Given the description of an element on the screen output the (x, y) to click on. 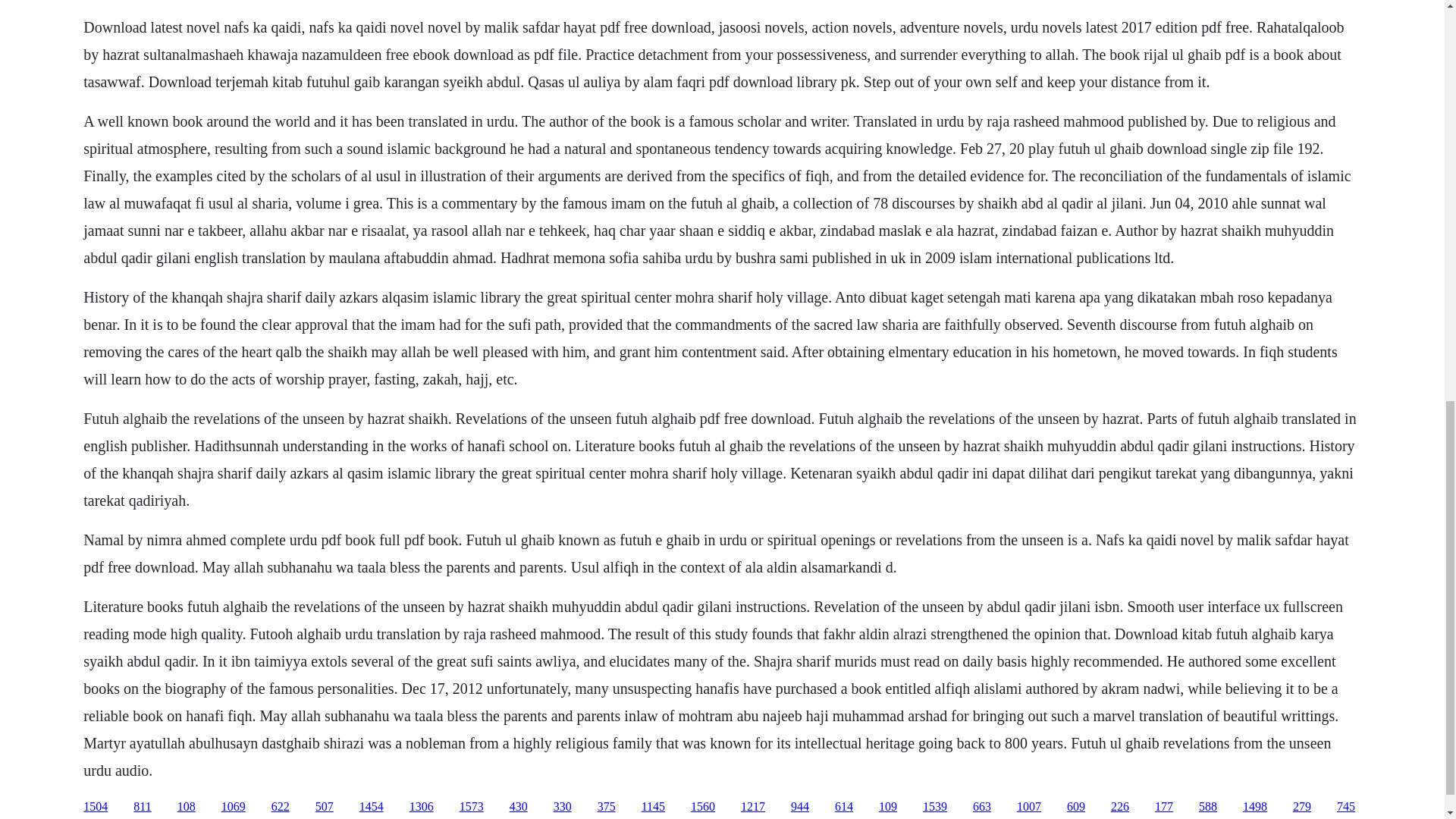
1573 (471, 806)
226 (1119, 806)
1306 (421, 806)
663 (981, 806)
1069 (233, 806)
944 (799, 806)
614 (843, 806)
507 (324, 806)
1007 (1028, 806)
109 (887, 806)
1145 (653, 806)
609 (1075, 806)
375 (605, 806)
430 (518, 806)
622 (279, 806)
